Given the description of an element on the screen output the (x, y) to click on. 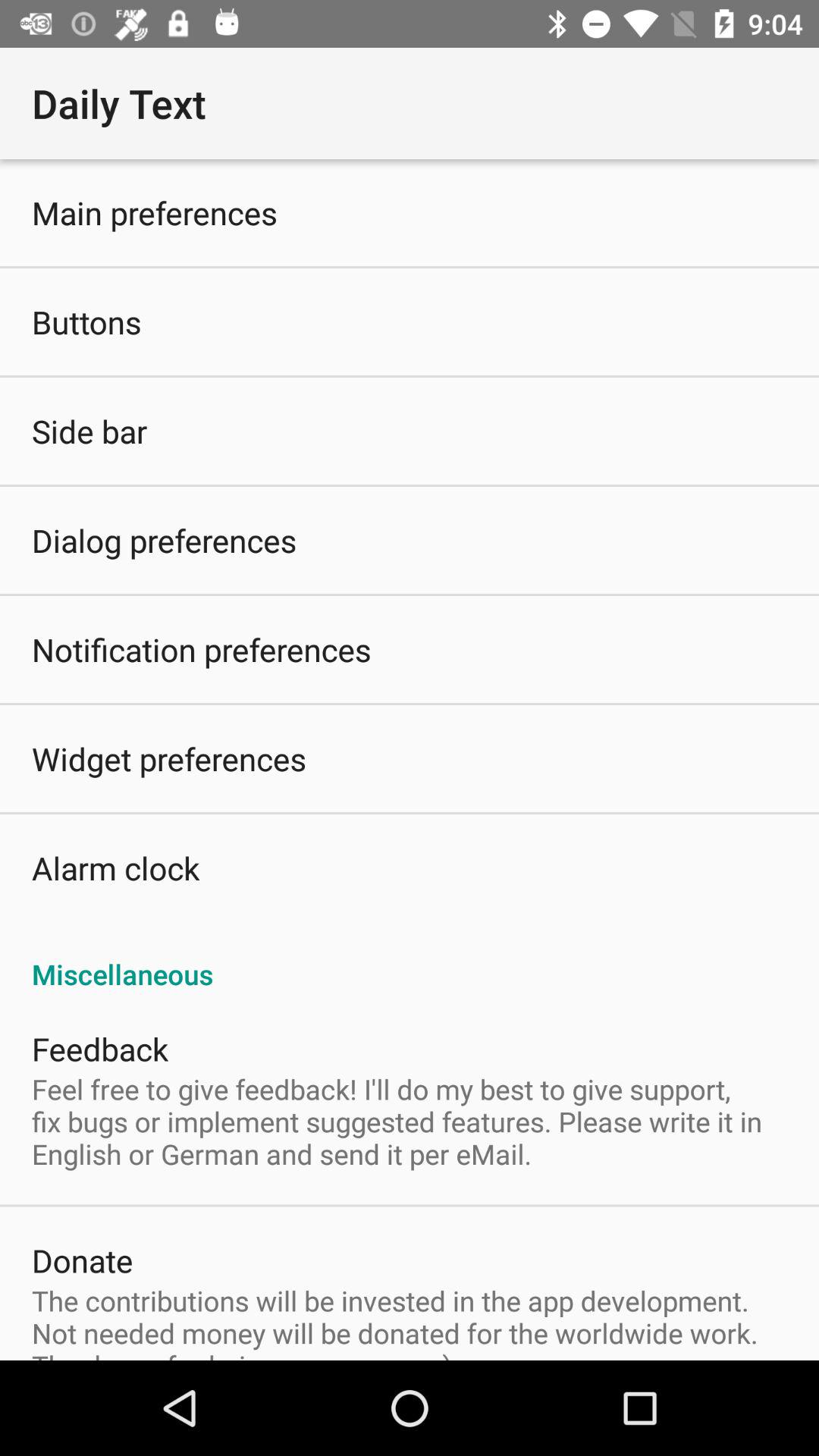
select the icon above the donate icon (409, 1121)
